Given the description of an element on the screen output the (x, y) to click on. 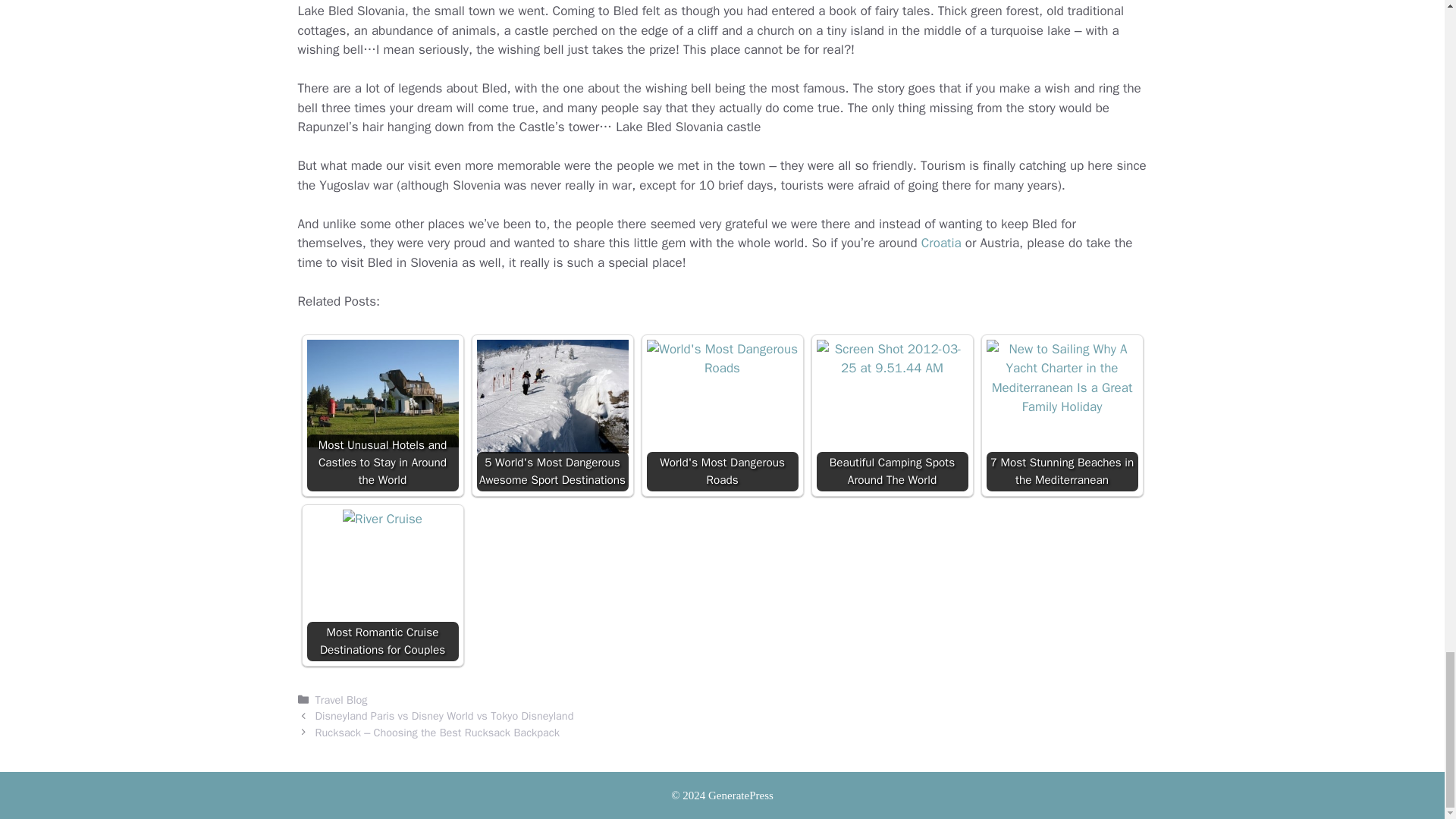
5 World's Most Dangerous Awesome Sport Destinations (551, 396)
World's Most Dangerous Roads (721, 358)
Beautiful Camping Spots Around The World (891, 415)
Most Romantic Cruise Destinations for Couples (381, 584)
World's Most Dangerous Roads (721, 415)
Croatia (940, 242)
5 World's Most Dangerous Awesome Sport Destinations (551, 415)
7 Most Stunning Beaches in the Mediterranean (1061, 415)
Most Unusual Hotels and Castles to Stay in Around the World (381, 415)
Most Unusual Hotels and Castles to Stay in Around the World (381, 393)
